Given the description of an element on the screen output the (x, y) to click on. 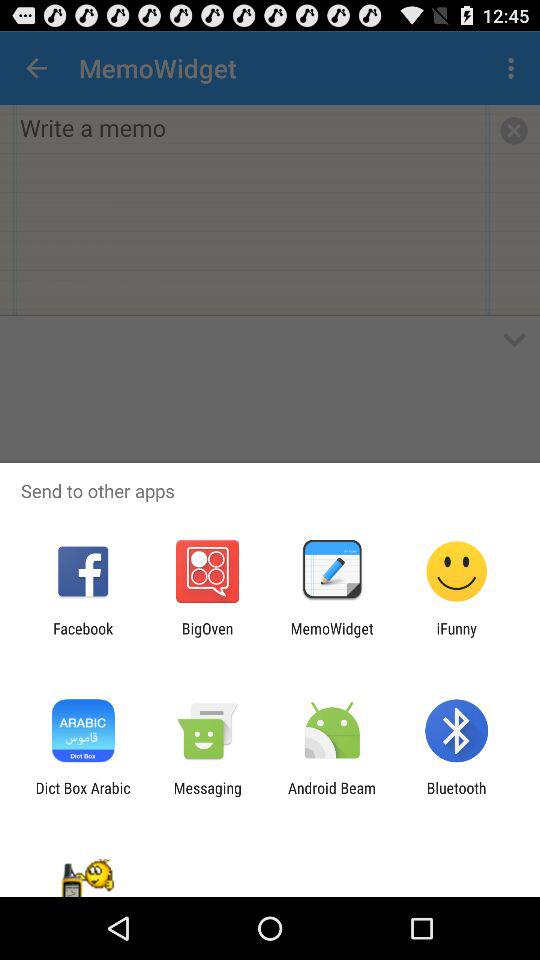
choose icon to the right of bigoven icon (331, 637)
